Given the description of an element on the screen output the (x, y) to click on. 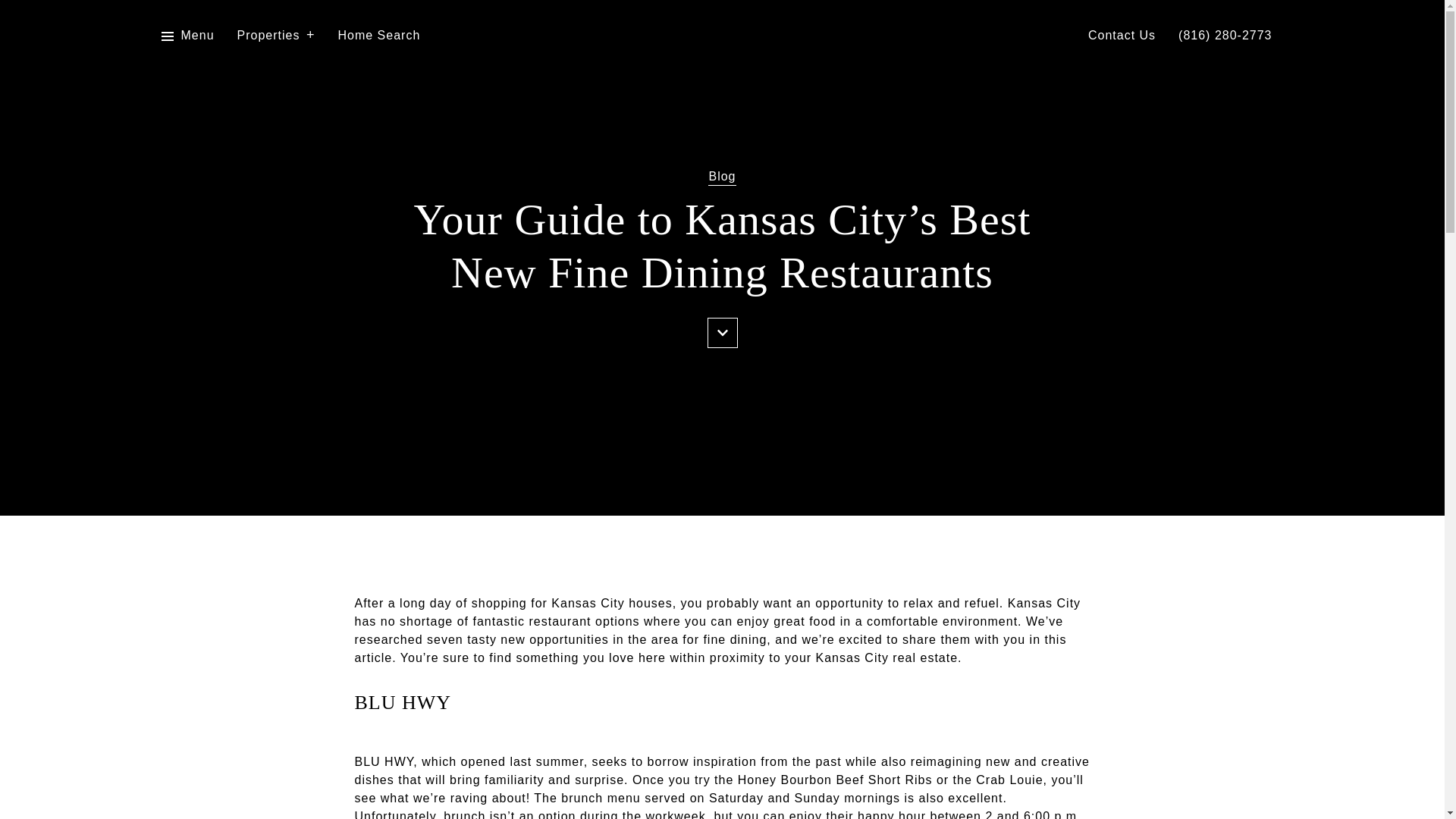
Contact Us (1121, 35)
Menu (197, 35)
Properties (276, 35)
Menu (187, 35)
Home Search (378, 35)
